Given the description of an element on the screen output the (x, y) to click on. 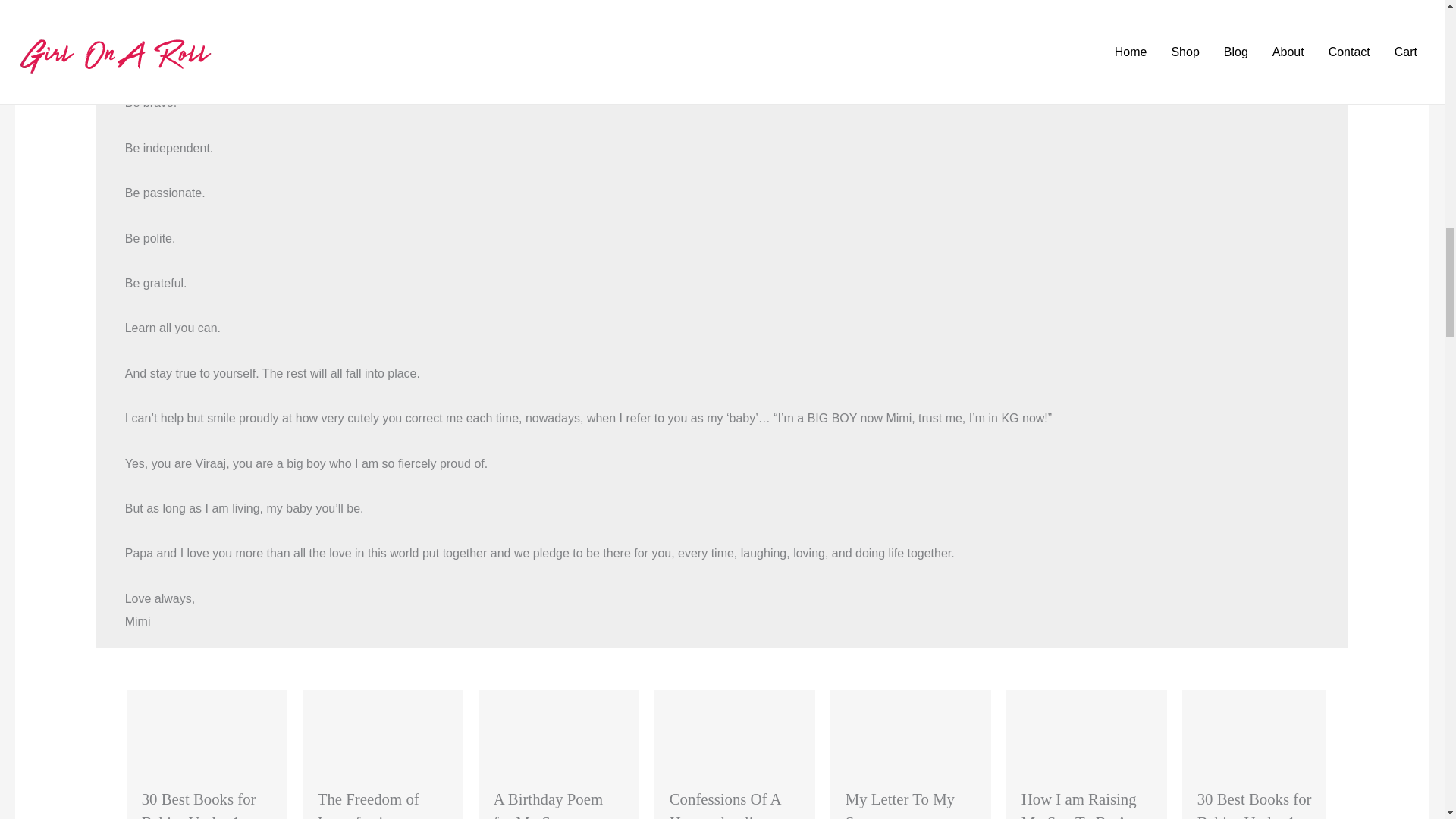
Confessions Of A Homeschooling Mom (724, 804)
The Freedom of Imperfection (368, 804)
A Birthday Poem for My Son (547, 804)
